Given the description of an element on the screen output the (x, y) to click on. 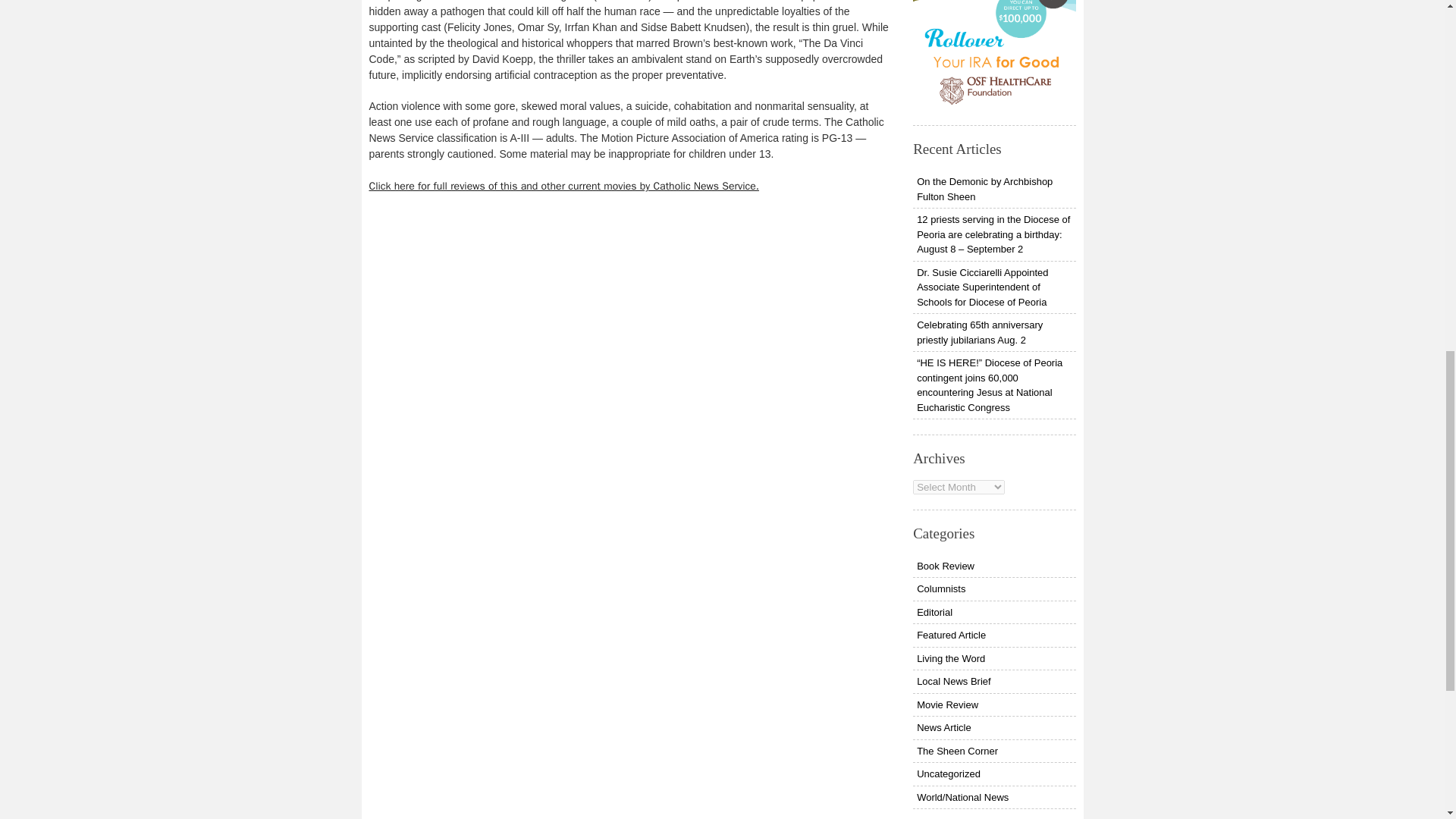
Celebrating 65th anniversary priestly jubilarians Aug. 2 (993, 332)
Featured Article (993, 635)
Book Review (993, 566)
Editorial (993, 612)
Columnists (993, 589)
On the Demonic by Archbishop Fulton Sheen (993, 189)
